Given the description of an element on the screen output the (x, y) to click on. 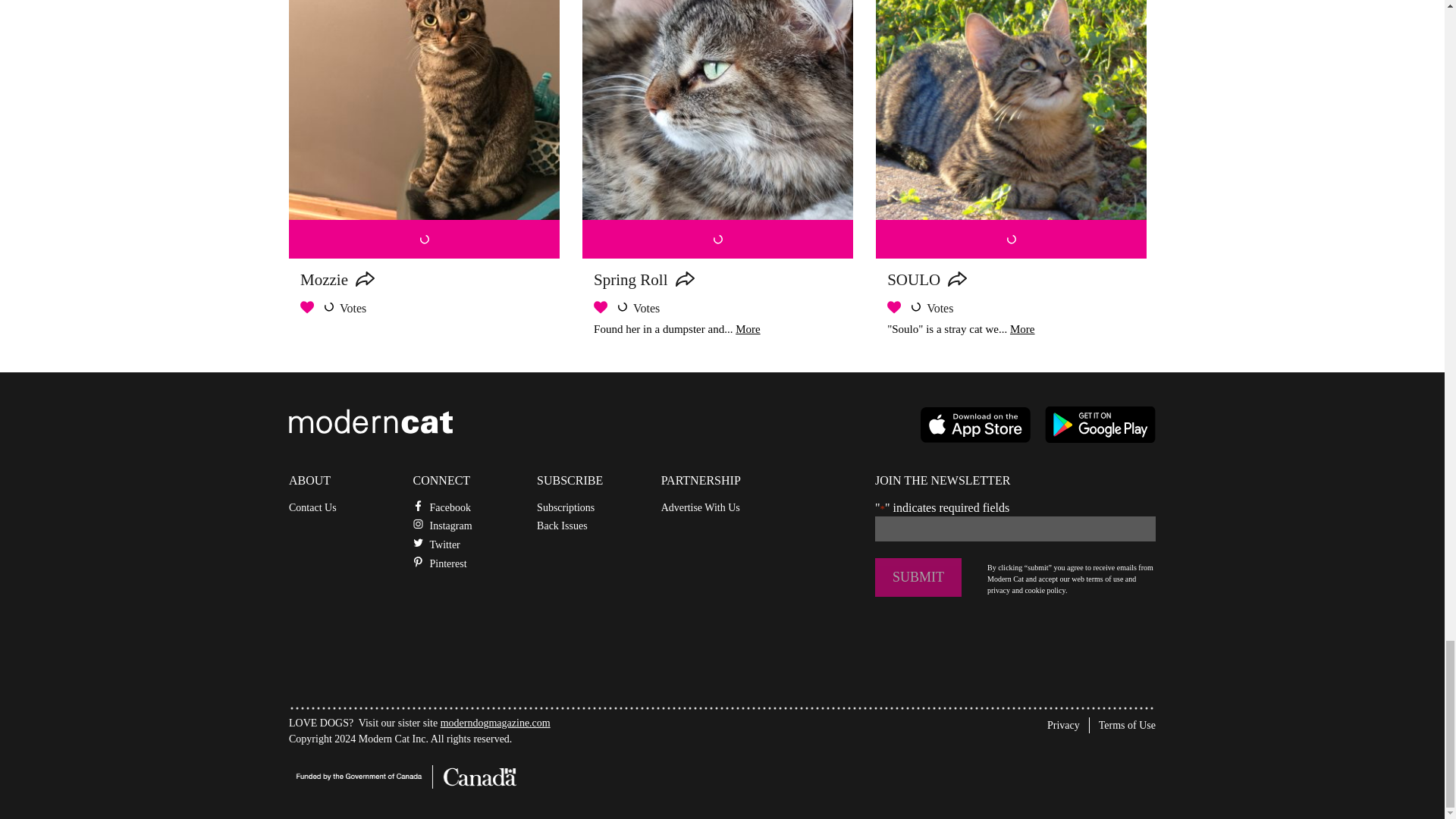
Submit (917, 577)
Funded by the Government of Canada (402, 776)
